Given the description of an element on the screen output the (x, y) to click on. 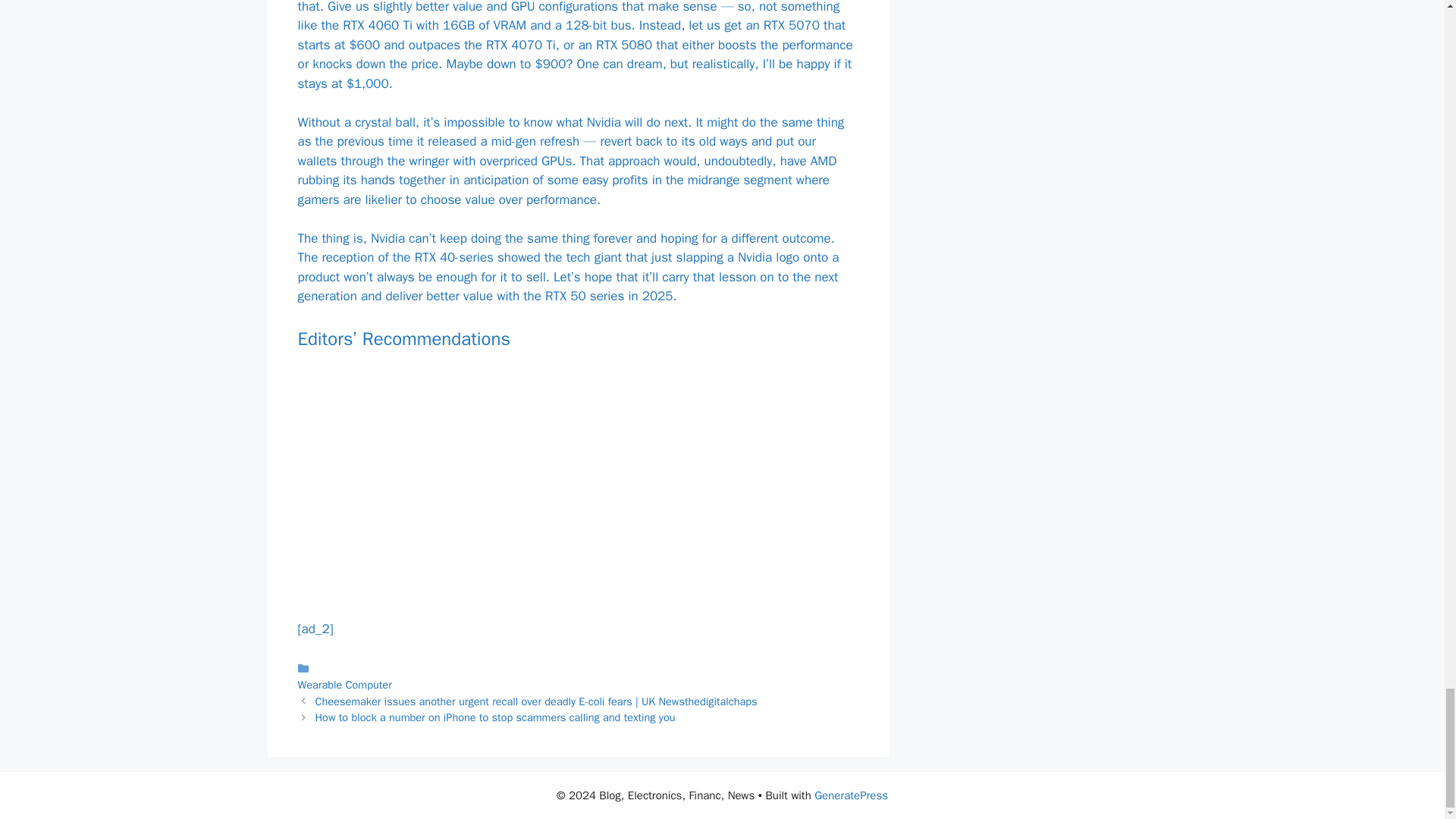
Categories (578, 675)
Wearable Computer (344, 684)
